Given the description of an element on the screen output the (x, y) to click on. 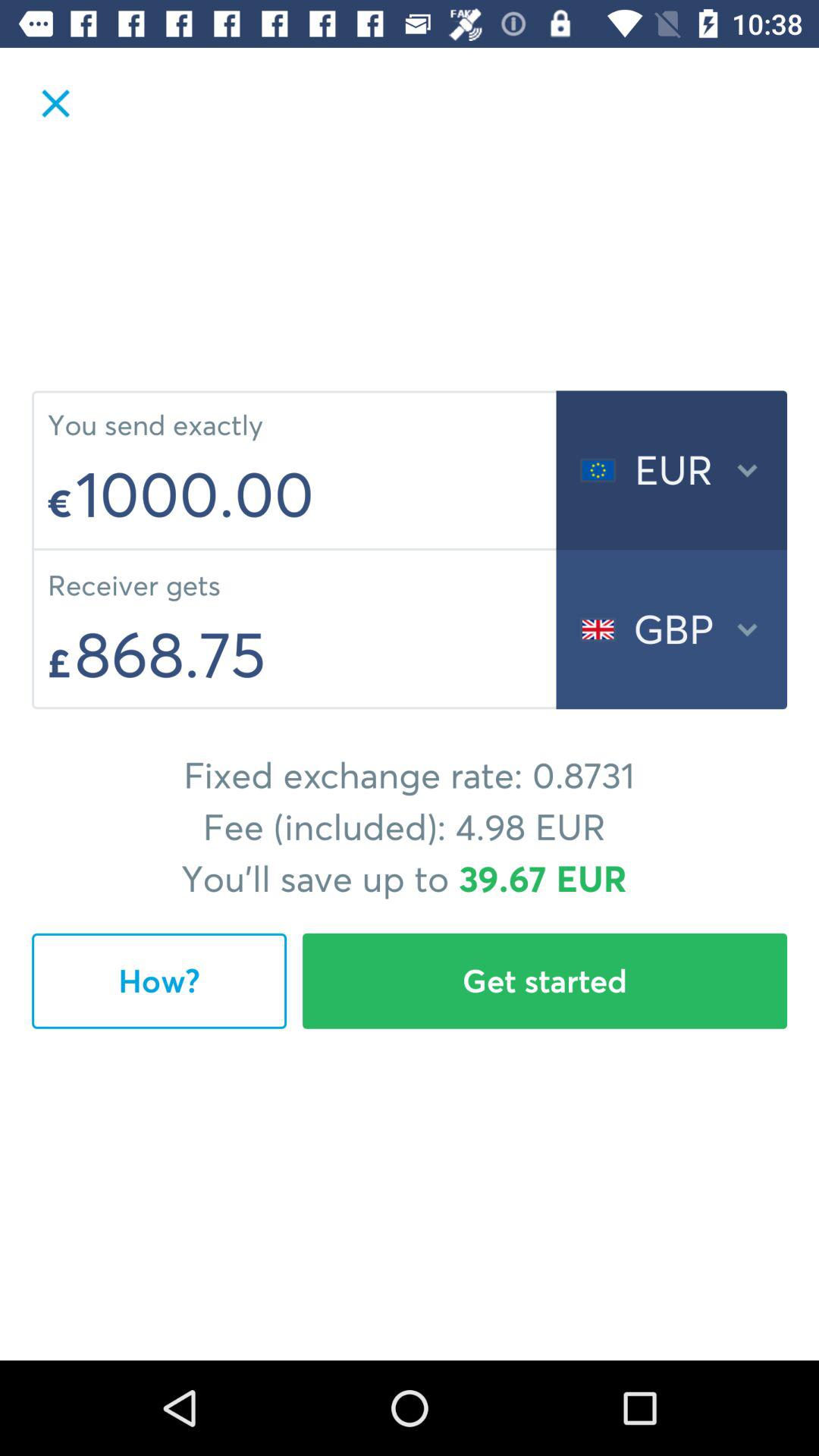
flip until get started icon (544, 980)
